Given the description of an element on the screen output the (x, y) to click on. 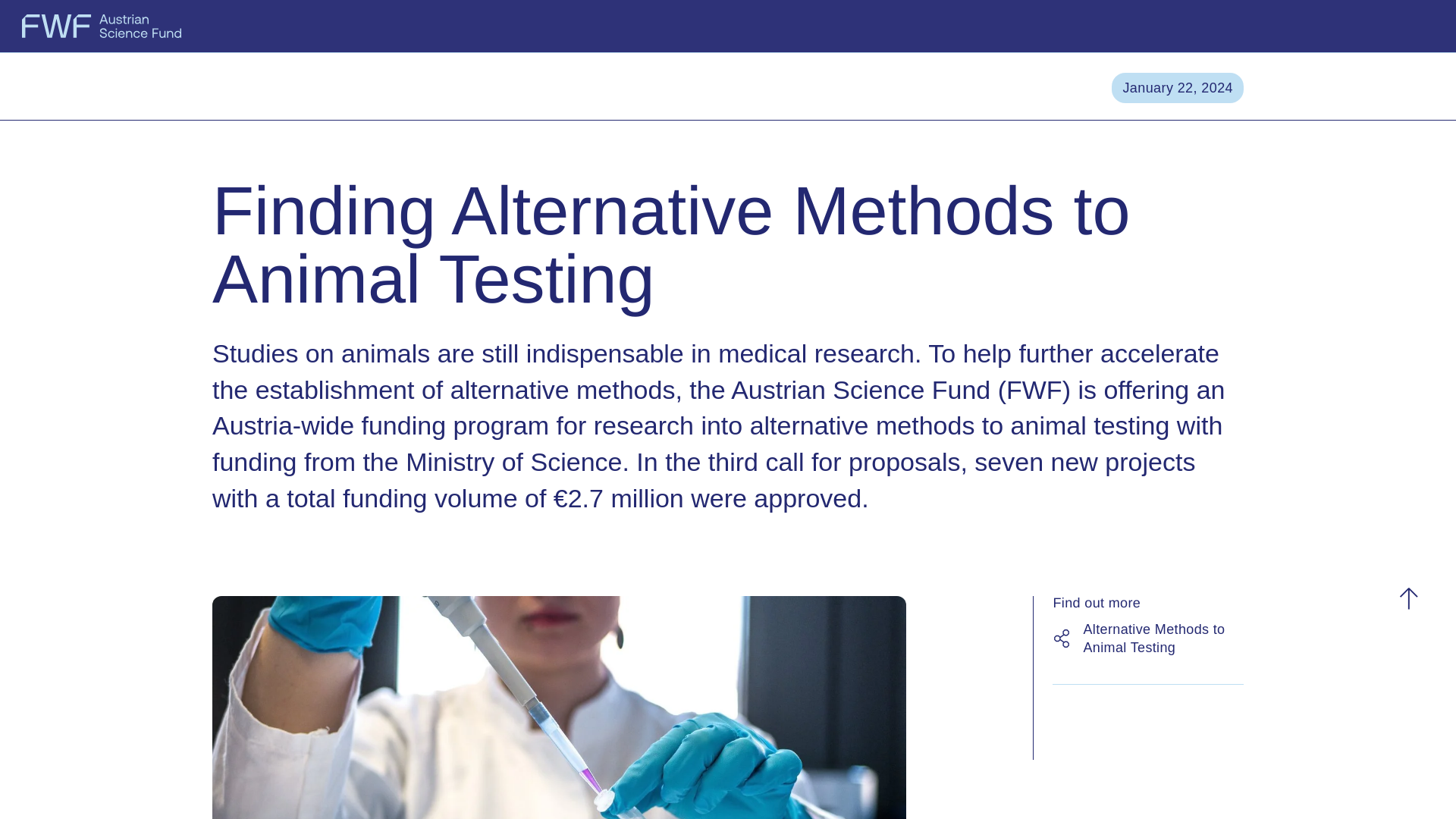
Alternative Methods to Animal Testing (1163, 638)
